Given the description of an element on the screen output the (x, y) to click on. 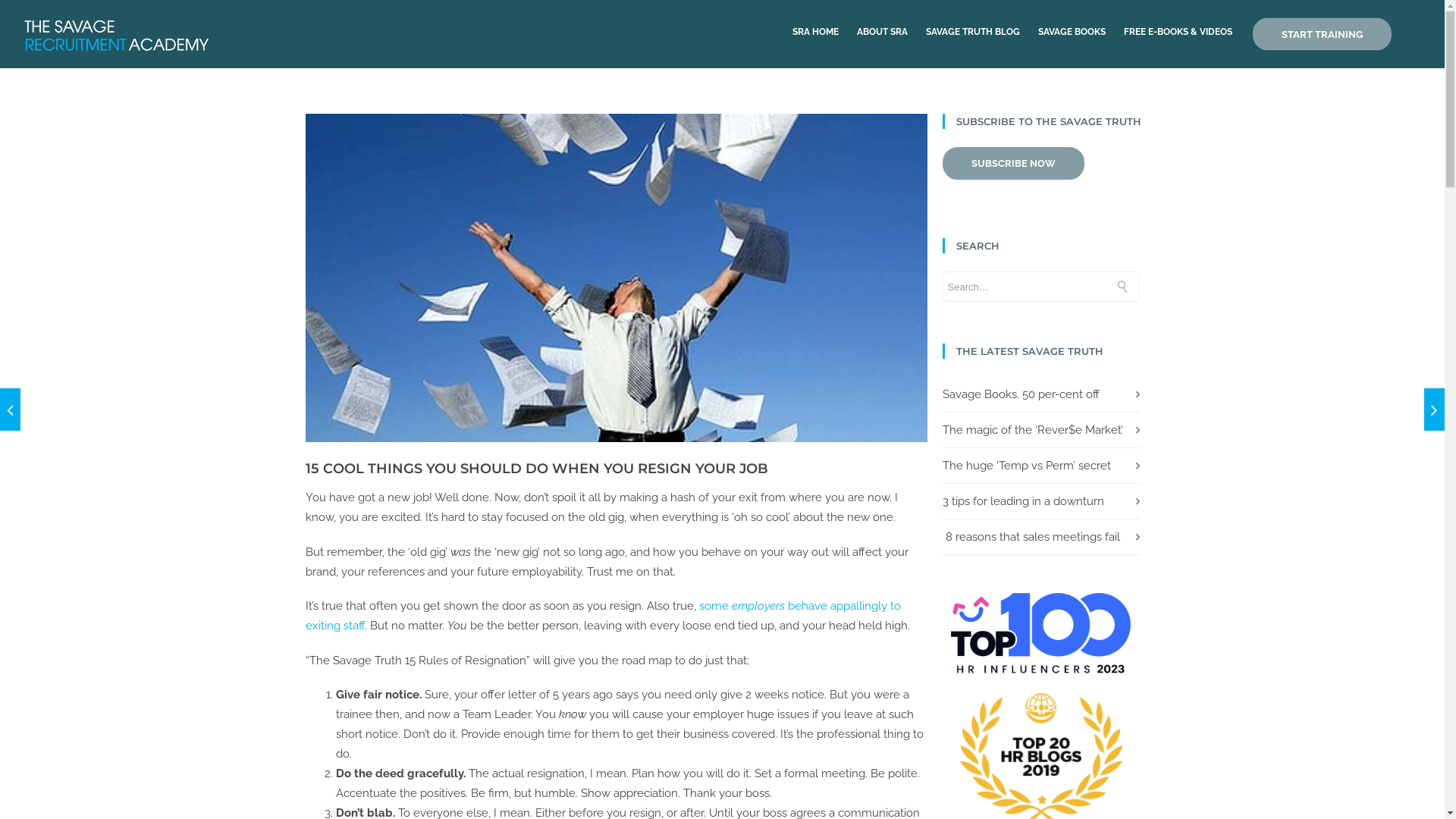
START TRAINING Element type: text (1321, 34)
Savage Books. 50 per-cent off Element type: text (1019, 394)
SUBSCRIBE NOW Element type: text (1012, 163)
SAVAGE BOOKS Element type: text (1071, 31)
15 COOL THINGS YOU SHOULD DO WHEN YOU RESIGN YOUR JOB Element type: text (535, 468)
some employers behave appallingly to exiting staff Element type: text (602, 615)
SRA HOME Element type: text (815, 31)
 8 reasons that sales meetings fail Element type: text (1030, 536)
3 tips for leading in a downturn Element type: text (1022, 501)
ABOUT SRA Element type: text (881, 31)
SAVAGE TRUTH BLOG Element type: text (972, 31)
FREE E-BOOKS & VIDEOS Element type: text (1177, 31)
